Given the description of an element on the screen output the (x, y) to click on. 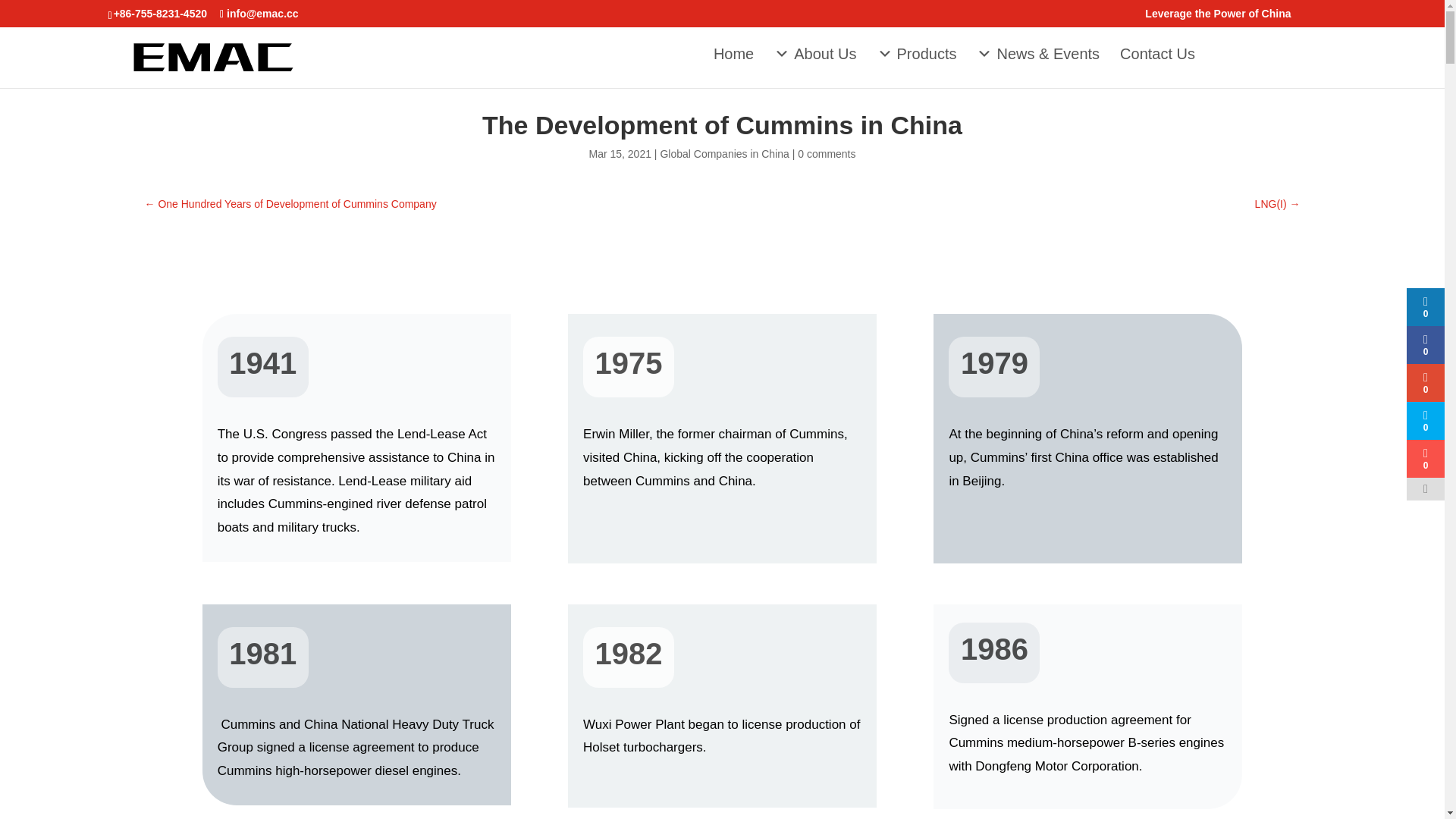
Home (733, 53)
Products (916, 53)
About Us (815, 53)
Leverage the Power of China (1217, 16)
